Given the description of an element on the screen output the (x, y) to click on. 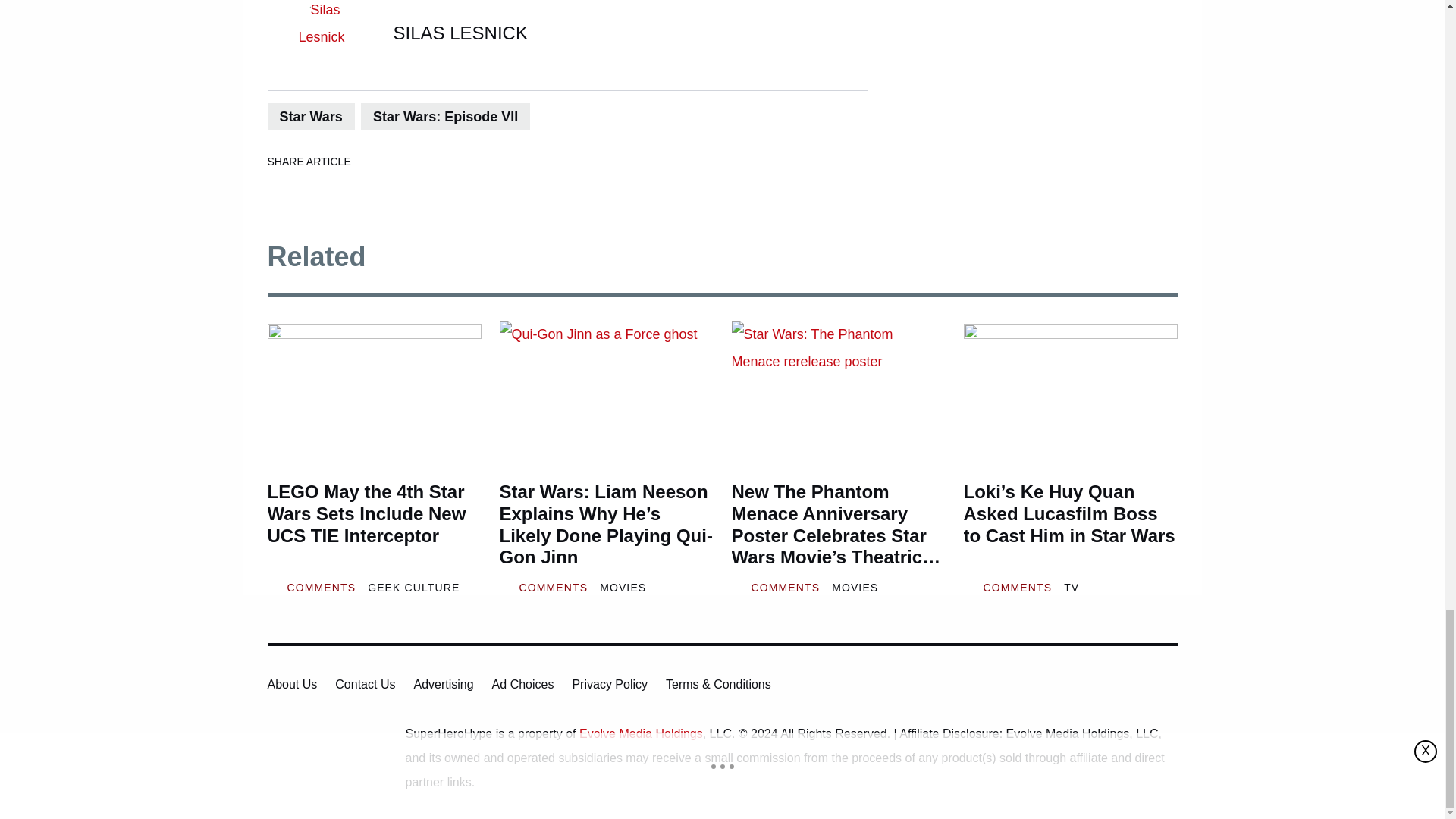
Star Wars (309, 116)
Star Wars: Episode VII (445, 116)
Twitter (463, 161)
Facebook (377, 161)
SILAS LESNICK (460, 32)
LinkedIn (420, 161)
Pinterest (505, 161)
